Given the description of an element on the screen output the (x, y) to click on. 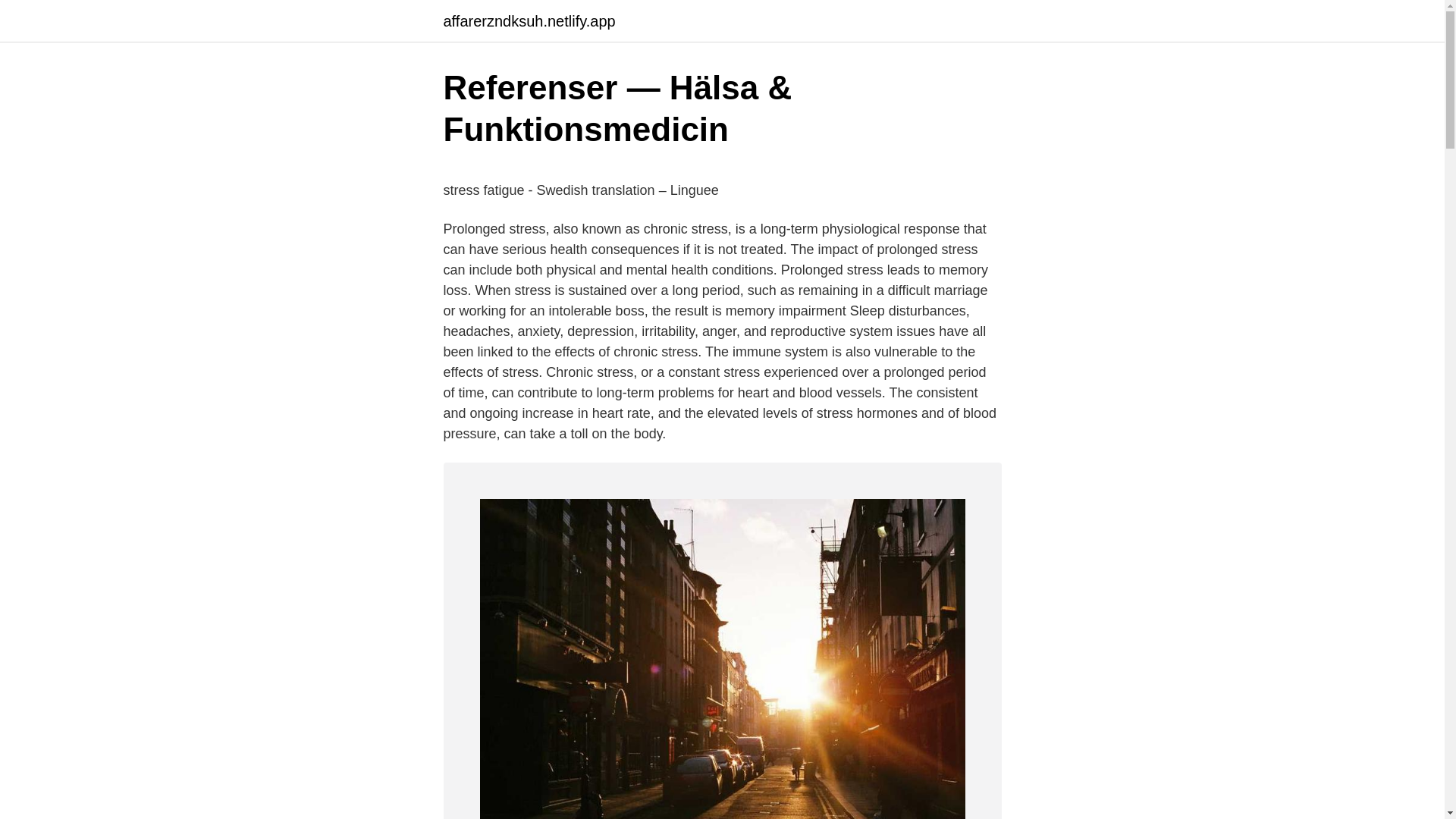
affarerzndksuh.netlify.app (528, 20)
